Given the description of an element on the screen output the (x, y) to click on. 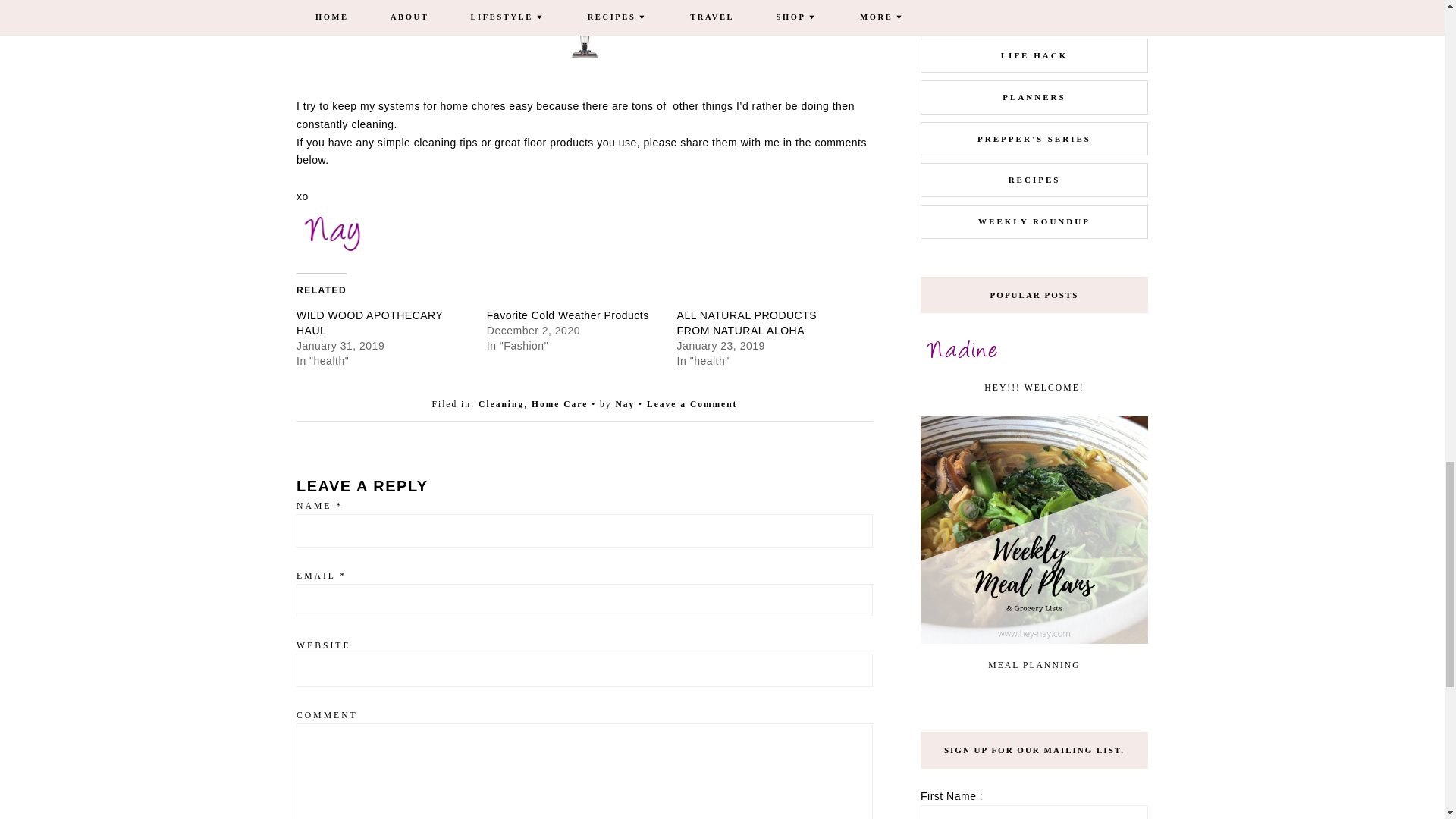
Favorite Cold Weather Products (567, 315)
ALL NATURAL PRODUCTS FROM NATURAL ALOHA (746, 322)
bruce-hardwood-laminate-floor-cleaner (470, 29)
Bissel-3-in-1-stick-vac (584, 29)
WILD WOOD APOTHECARY HAUL (369, 322)
